Given the description of an element on the screen output the (x, y) to click on. 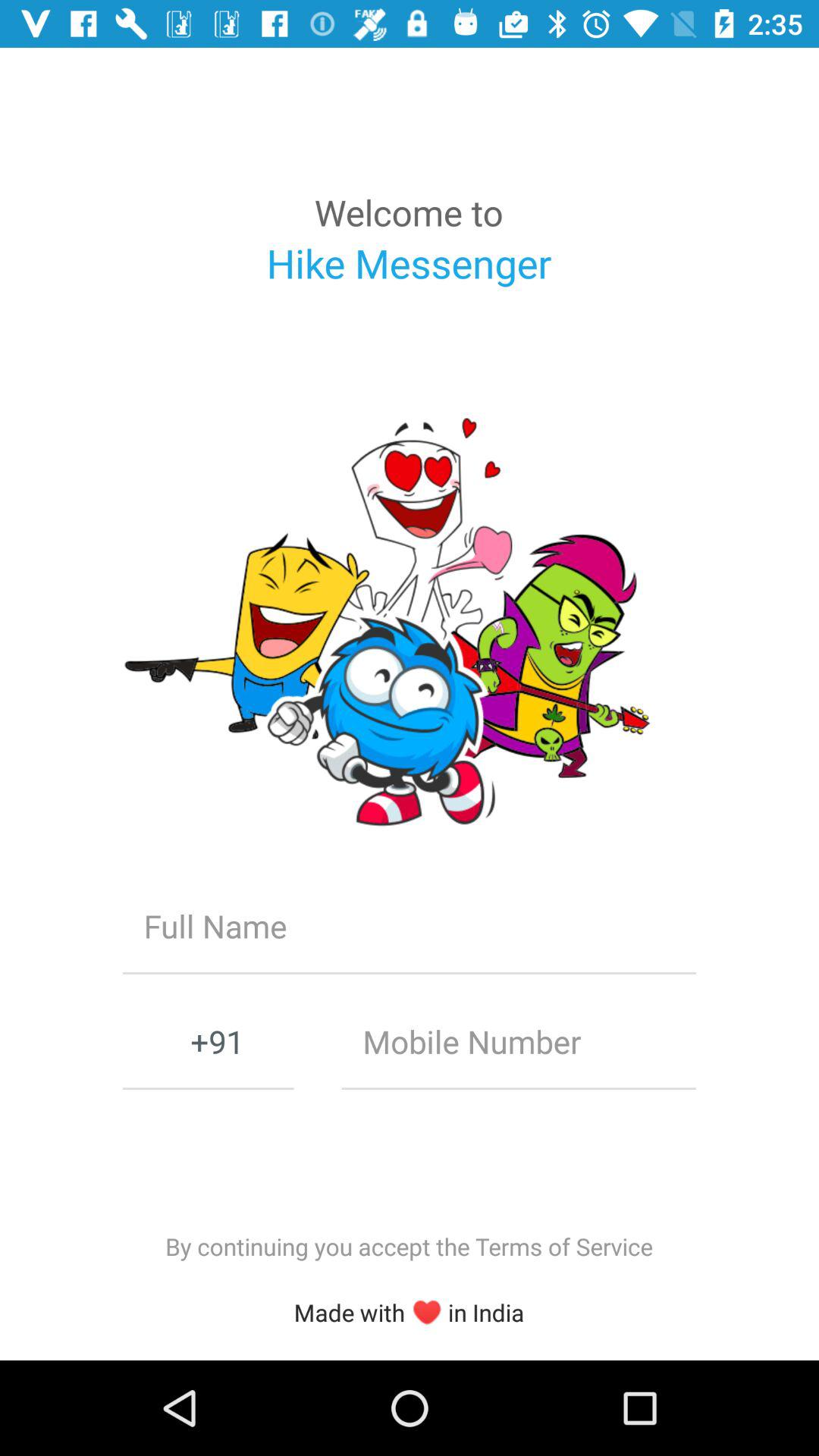
swipe to the by continuing you item (408, 1246)
